Given the description of an element on the screen output the (x, y) to click on. 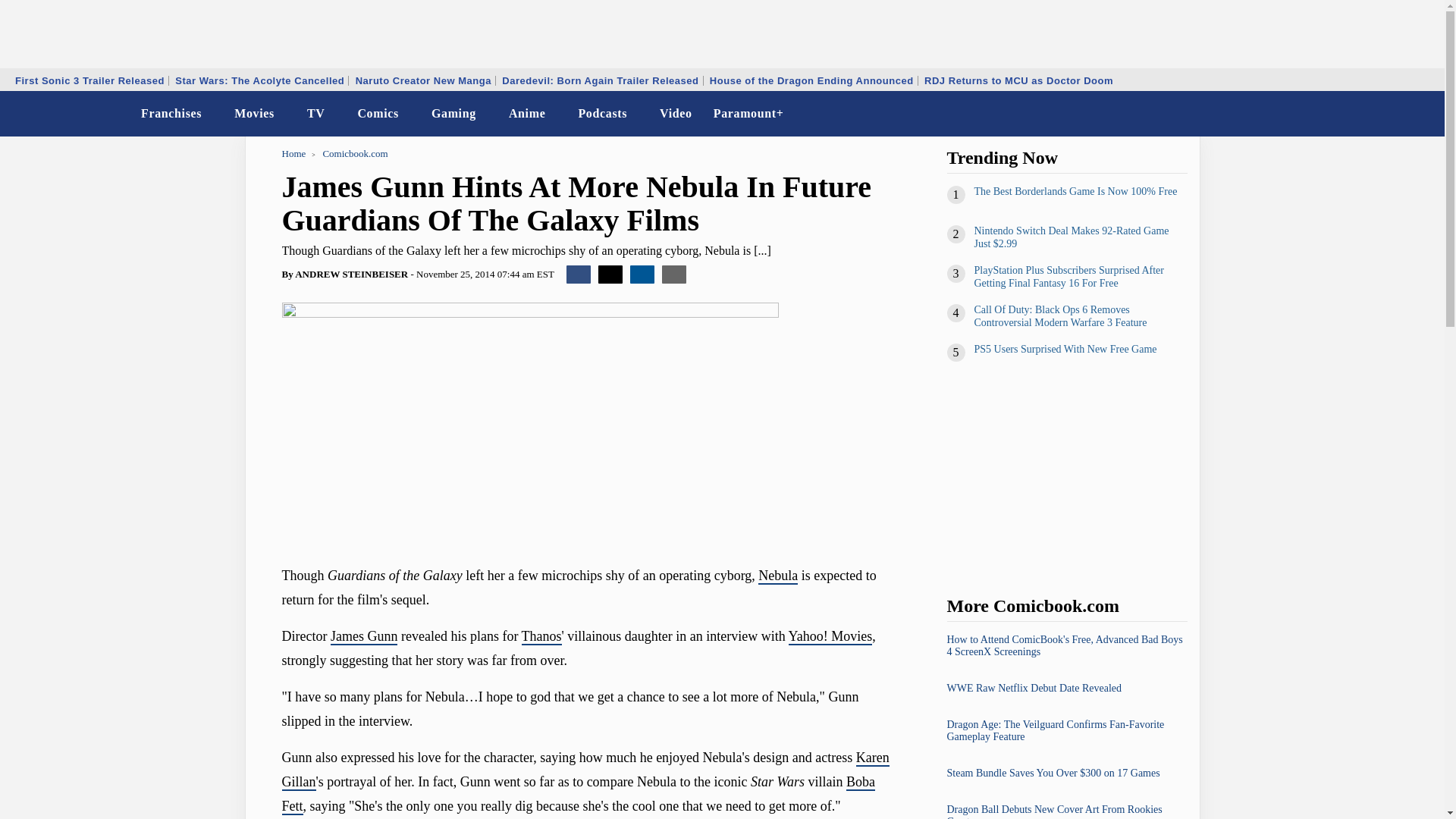
Star Wars: The Acolyte Cancelled (259, 80)
Dark Mode (1394, 113)
House of the Dragon Ending Announced (811, 80)
Comics (377, 113)
RDJ Returns to MCU as Doctor Doom (1018, 80)
Naruto Creator New Manga (423, 80)
First Sonic 3 Trailer Released (89, 80)
Daredevil: Born Again Trailer Released (599, 80)
Movies (254, 113)
Search (1422, 114)
